Given the description of an element on the screen output the (x, y) to click on. 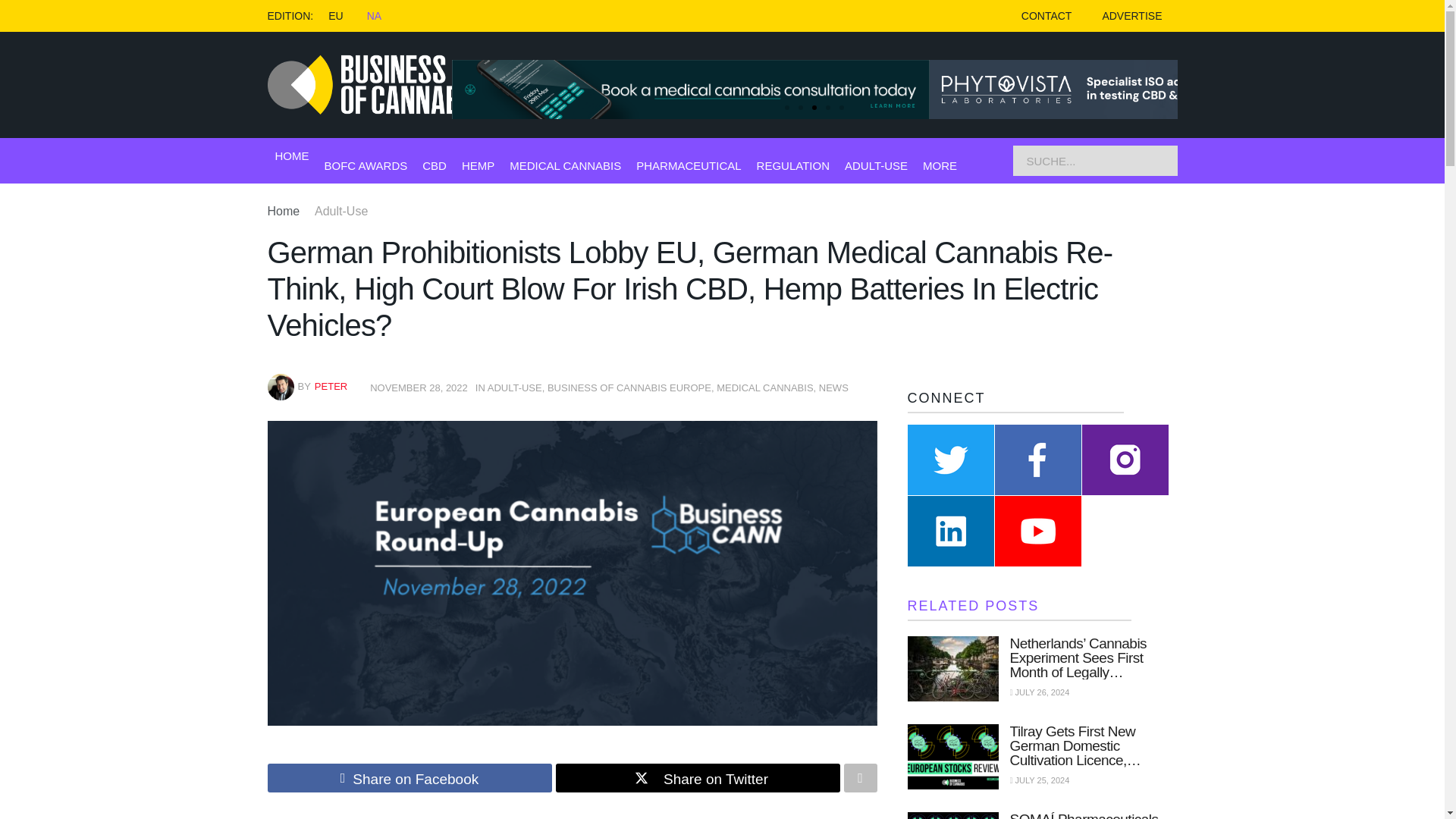
MEDICAL CANNABIS (565, 165)
HEMP (478, 165)
REGULATION (793, 165)
CBD (434, 165)
HOME (291, 156)
ADULT-USE (875, 165)
CONTACT (1046, 15)
BOFC AWARDS (365, 165)
ADVERTISE (1131, 15)
PHARMACEUTICAL (688, 165)
MORE (939, 165)
